Given the description of an element on the screen output the (x, y) to click on. 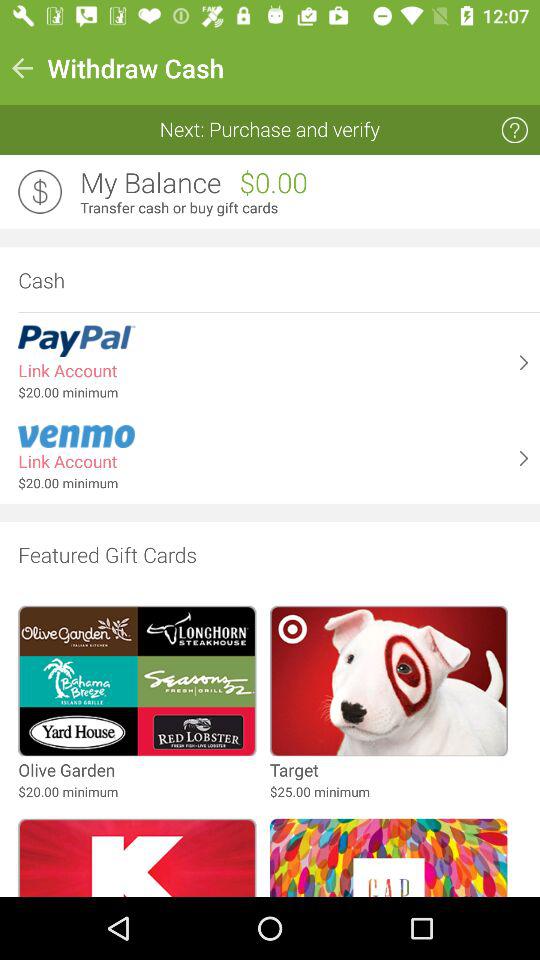
choose the icon next to withdraw cash icon (22, 67)
